Given the description of an element on the screen output the (x, y) to click on. 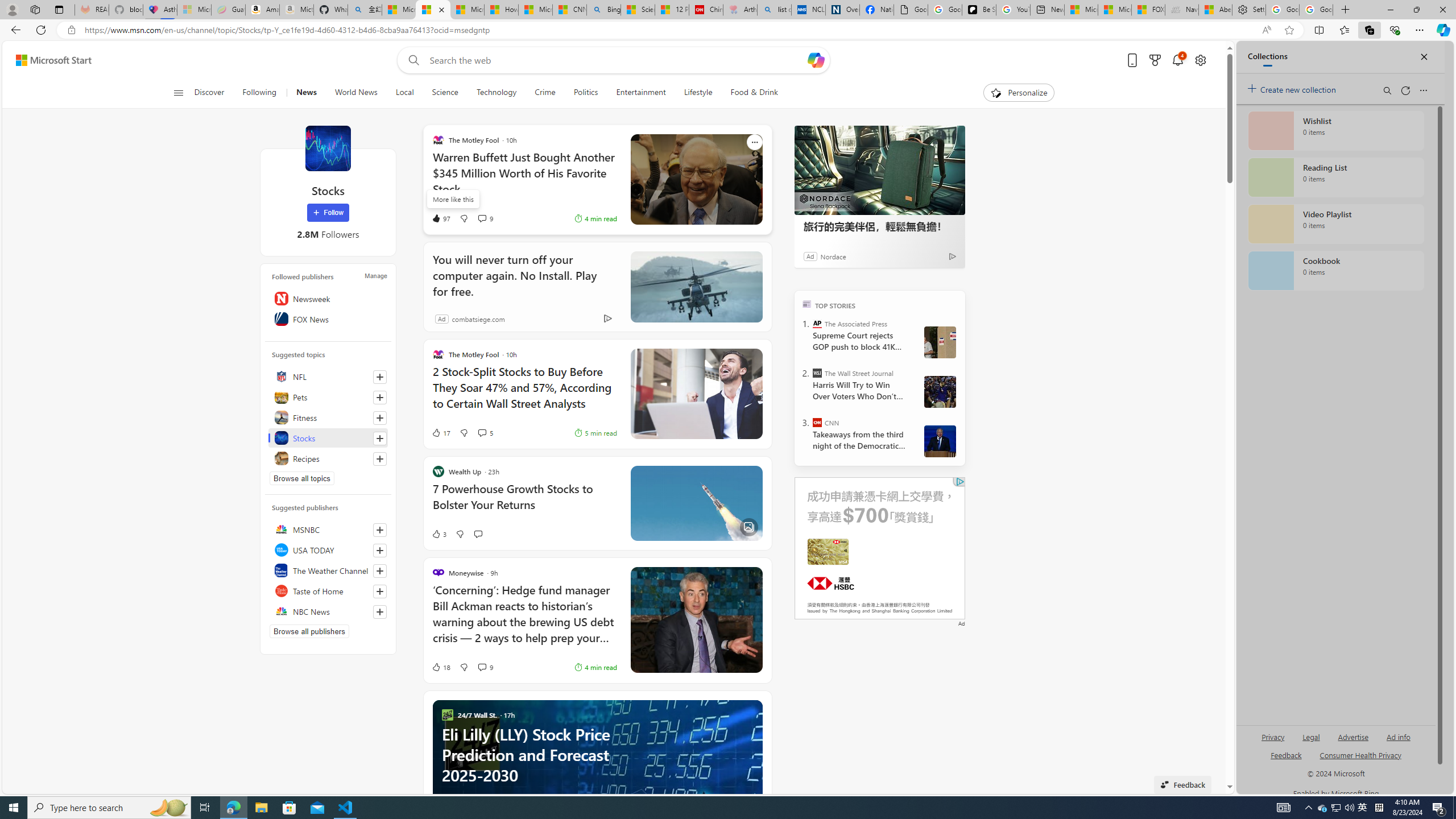
NBC News (327, 610)
Bill Ackman on brewing US debt crisis (696, 619)
combatsiege.com (478, 318)
Arthritis: Ask Health Professionals - Sleeping (739, 9)
